Given the description of an element on the screen output the (x, y) to click on. 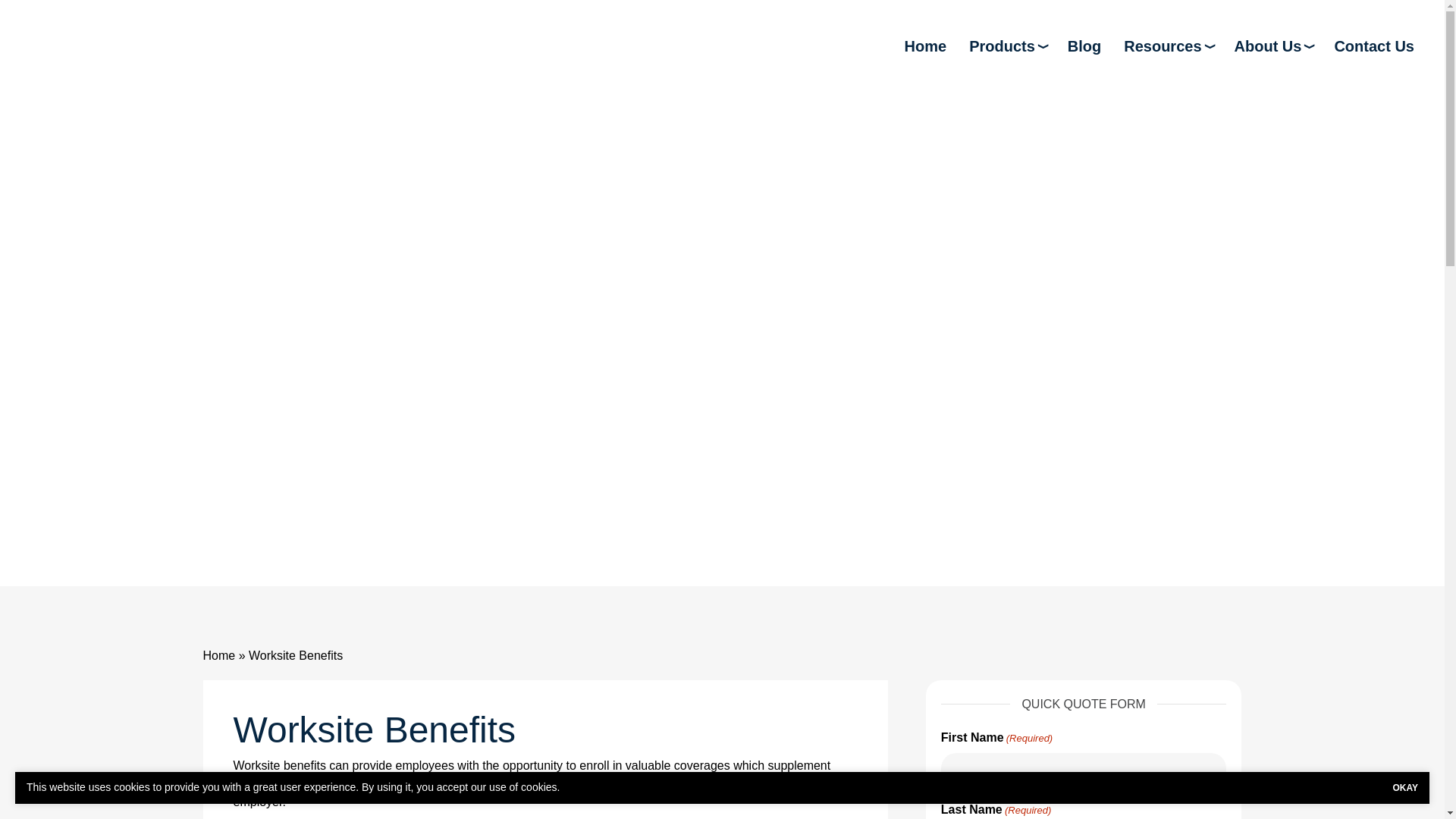
Blog (1083, 46)
Home (925, 46)
Resources (1167, 46)
About Us (1272, 46)
Products (1007, 46)
Contact Us (1373, 46)
Home (219, 655)
